Given the description of an element on the screen output the (x, y) to click on. 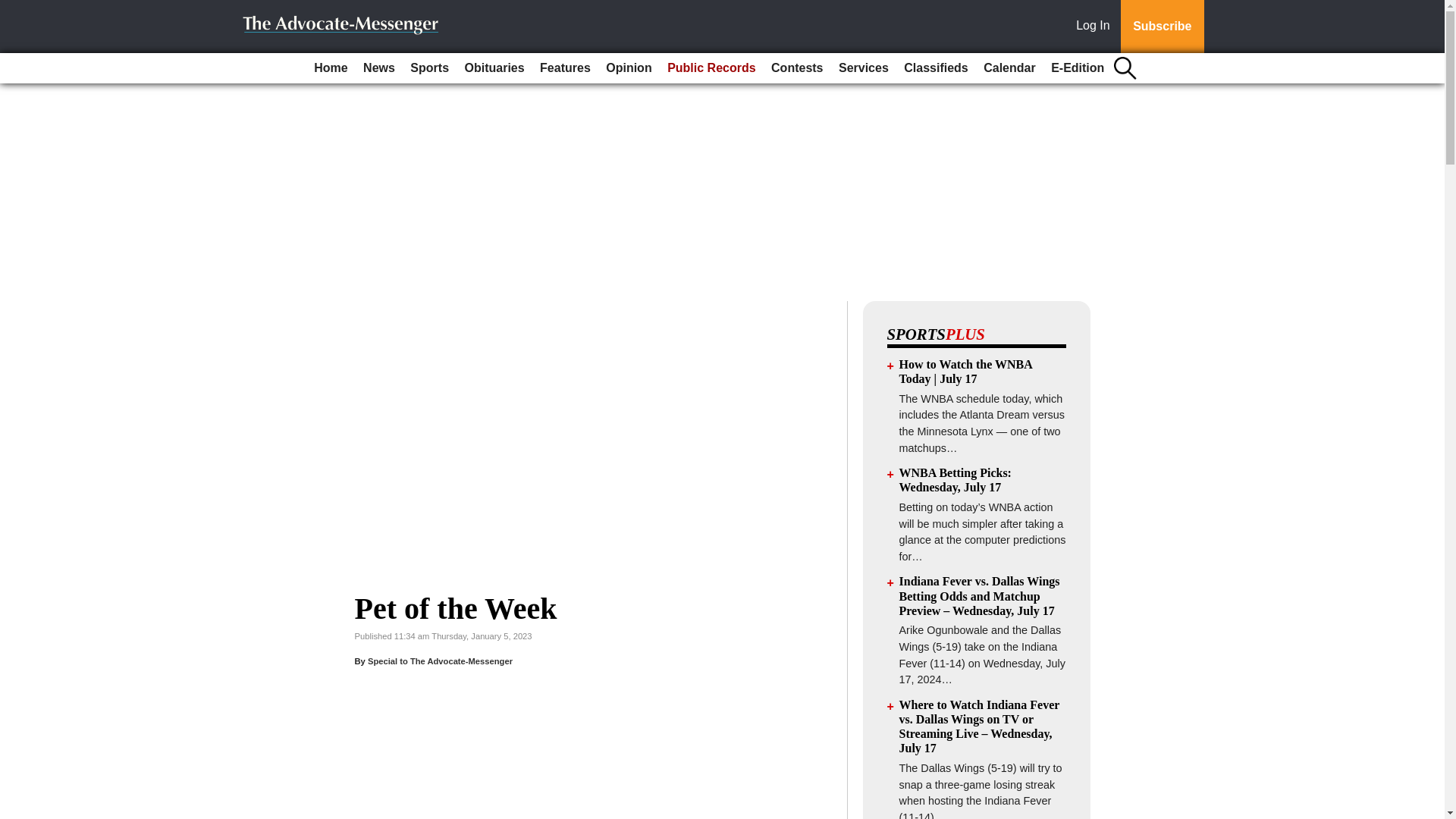
Log In (1095, 26)
WNBA Betting Picks: Wednesday, July 17 (955, 479)
Go (13, 9)
Contests (796, 68)
Public Records (711, 68)
Classifieds (936, 68)
News (378, 68)
Subscribe (1162, 26)
E-Edition (1077, 68)
Special to The Advocate-Messenger (440, 660)
Services (863, 68)
Home (330, 68)
Sports (429, 68)
Calendar (1008, 68)
Opinion (628, 68)
